Given the description of an element on the screen output the (x, y) to click on. 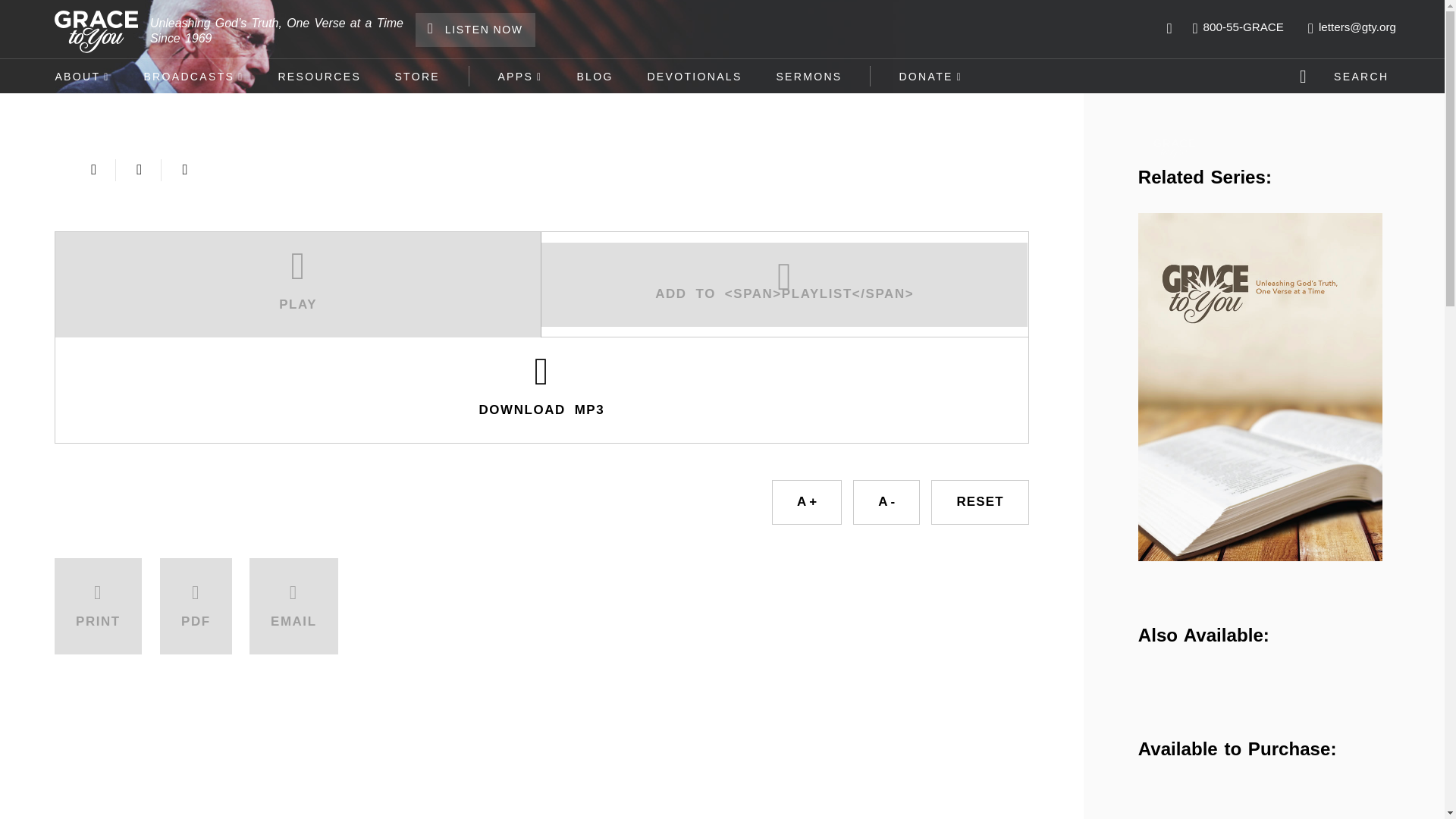
800-55-GRACE (1237, 28)
LISTEN NOW (474, 29)
APPS (519, 76)
RESOURCES (318, 76)
DEVOTIONALS (694, 76)
SERMONS (808, 76)
DONATE (930, 76)
BROADCASTS (193, 76)
ABOUT (81, 76)
SEARCH (1347, 76)
